Given the description of an element on the screen output the (x, y) to click on. 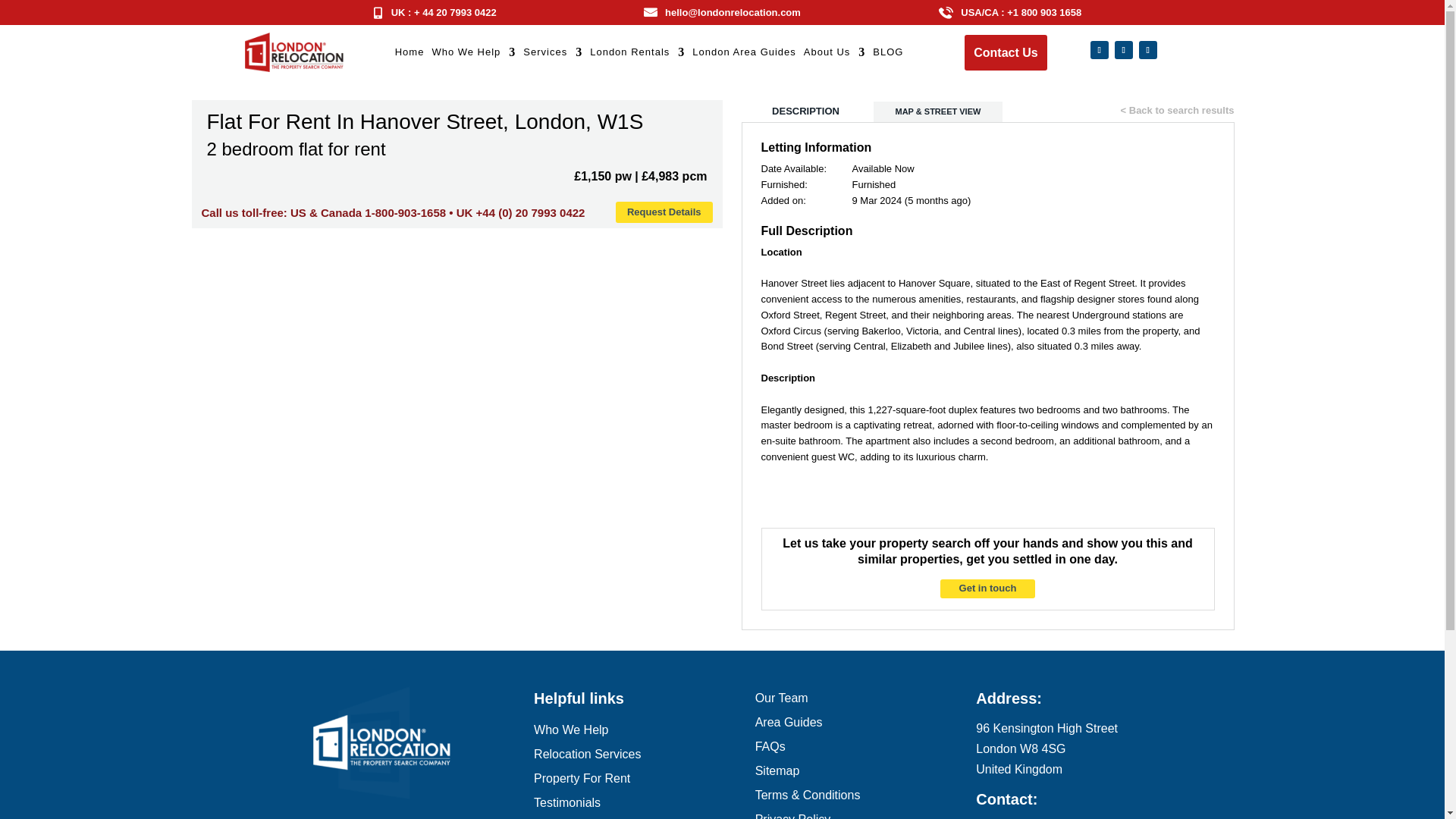
dffez (650, 12)
BLOG (887, 54)
Home (409, 54)
Who We Help (472, 54)
Follow on X (1123, 49)
Follow on Facebook (1099, 49)
London Area Guides (744, 54)
Services (552, 54)
About Us (833, 54)
Follow on Instagram (1147, 49)
footer-logo (381, 742)
sfefz (946, 11)
London Rentals (636, 54)
Logo-Dark (293, 52)
